Given the description of an element on the screen output the (x, y) to click on. 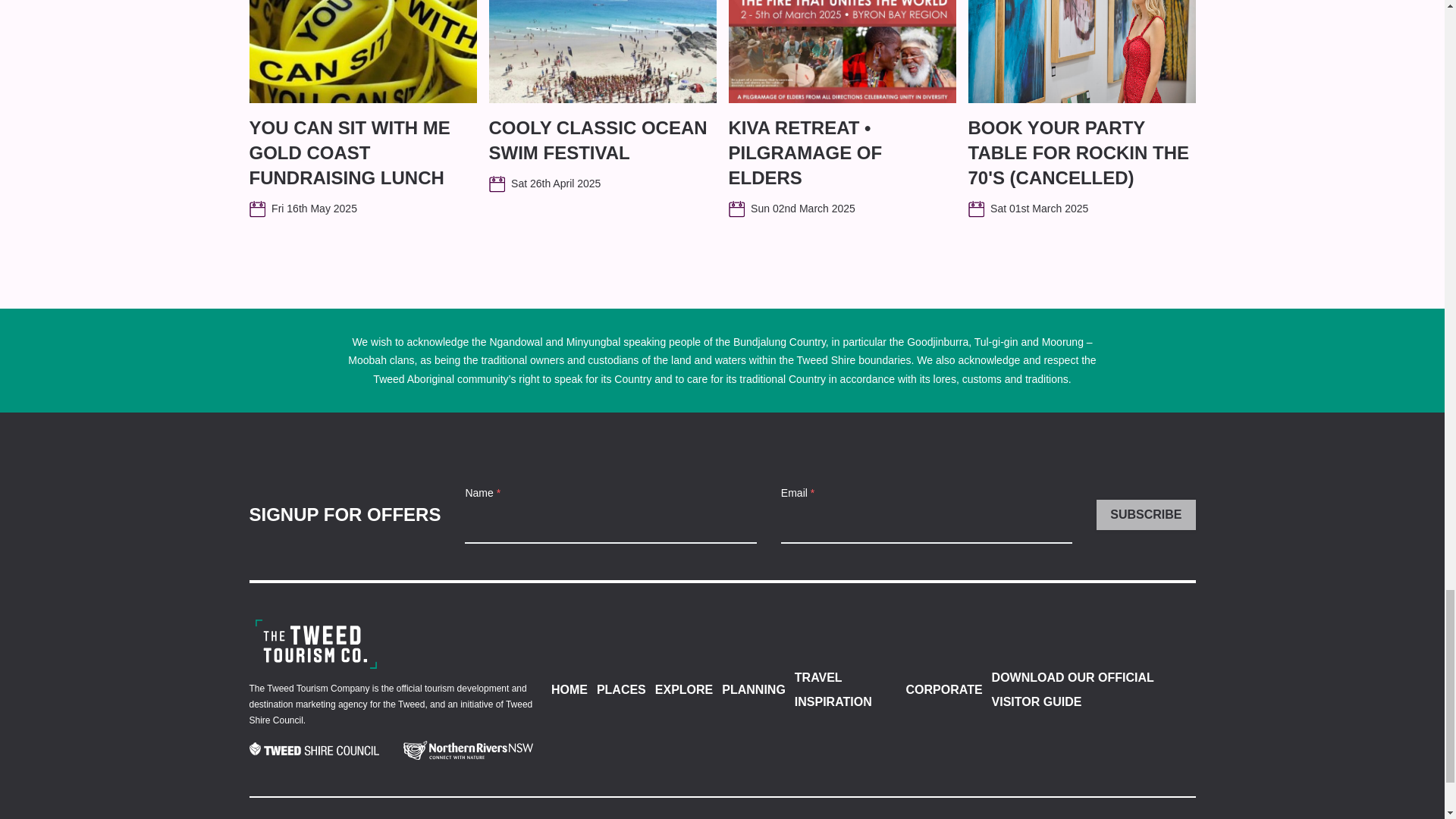
Corporate (314, 644)
lEJLdA3D135fcabc-7e73-4f3b-9974-8886803c07db.jpeg (841, 51)
Northern Rivers NSW (467, 750)
Tweed Shire Council (313, 750)
